Given the description of an element on the screen output the (x, y) to click on. 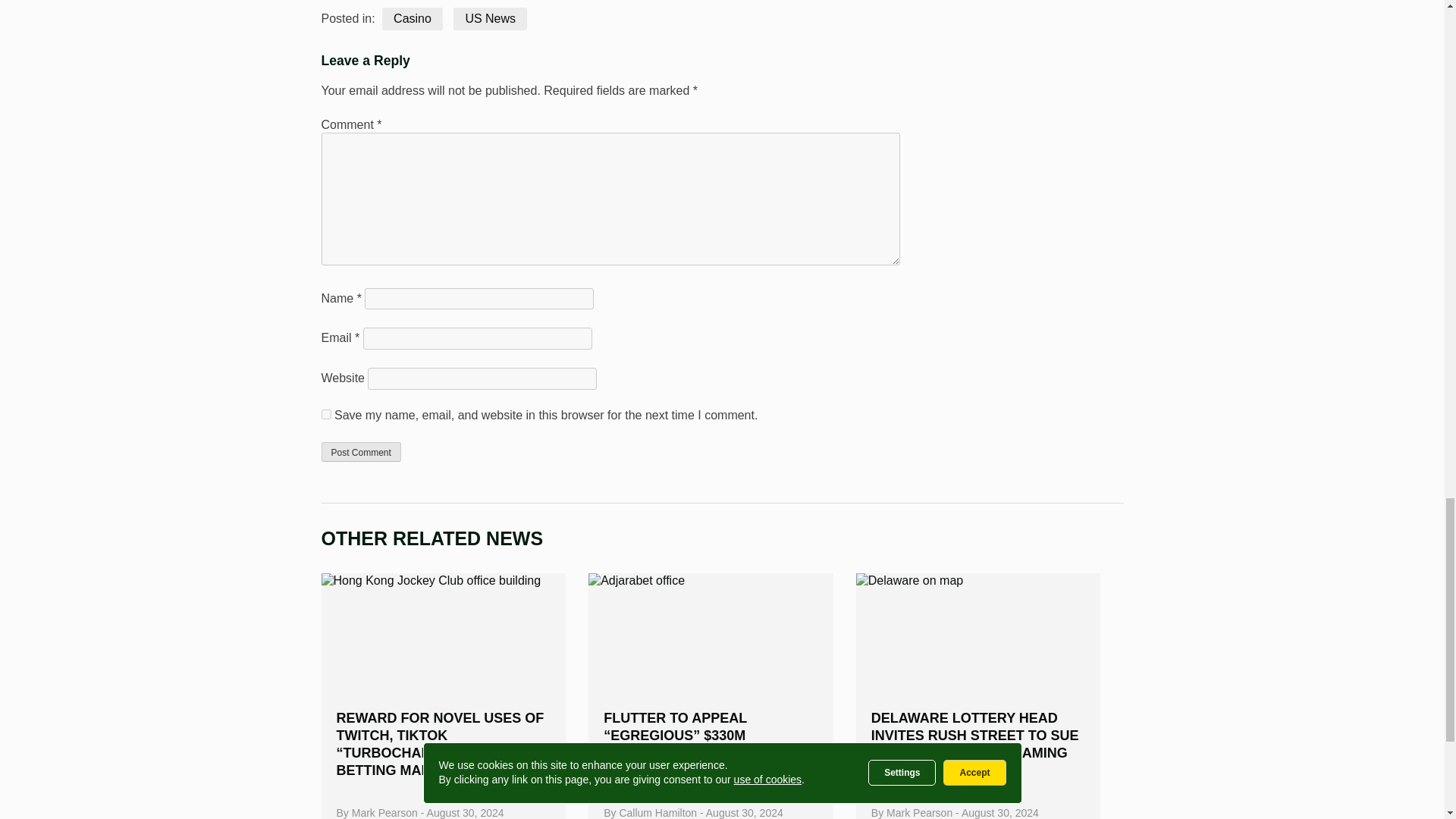
Casino (411, 19)
Post Comment (361, 451)
Post Comment (361, 451)
US News (489, 19)
yes (326, 414)
